Given the description of an element on the screen output the (x, y) to click on. 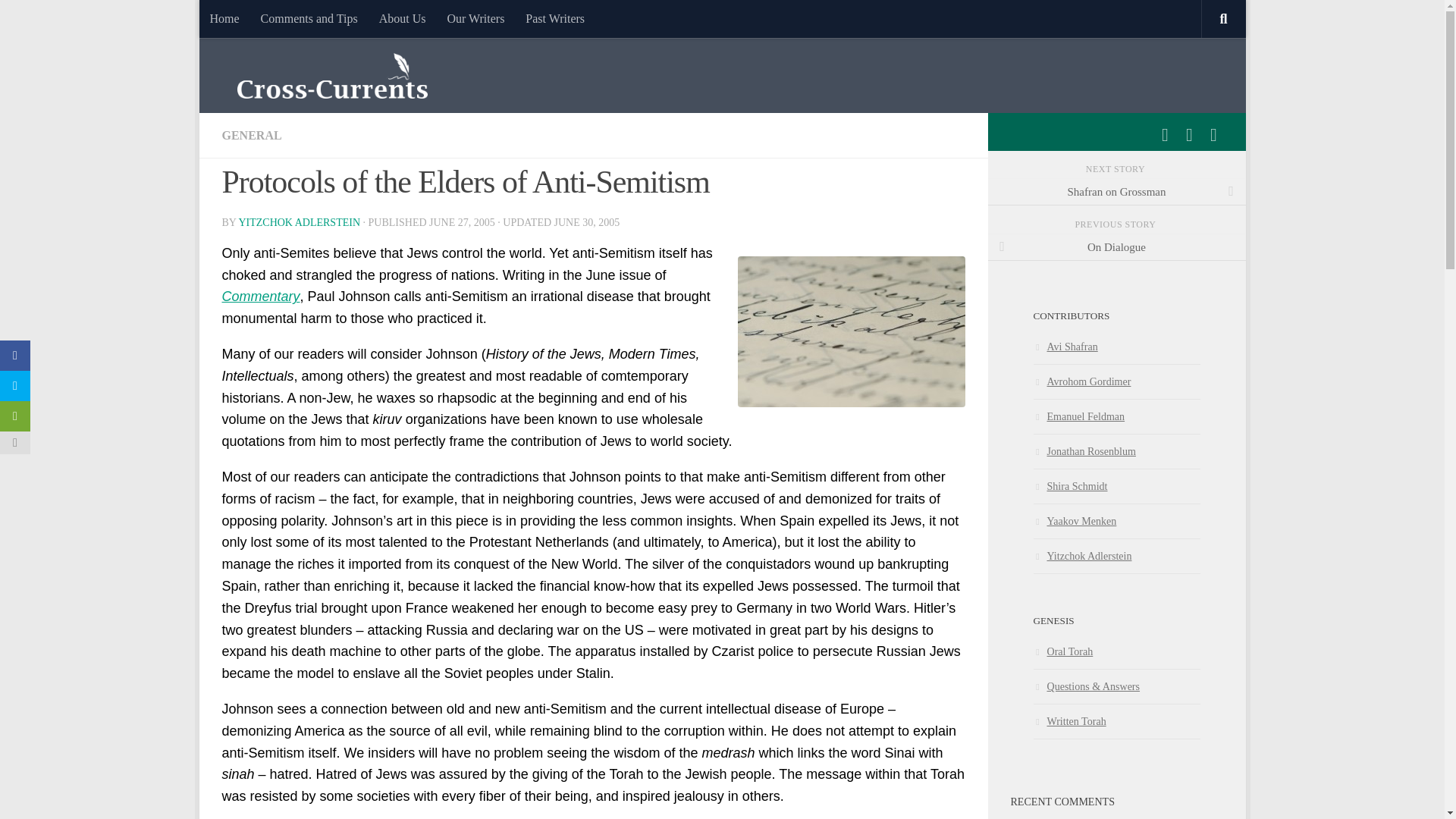
Jonathan Rosenblum (1083, 451)
On Dialogue (1115, 247)
Skip to content (258, 20)
Emanuel Feldman (1078, 416)
Commentary (260, 296)
Follow us on Facebook (1164, 135)
Shira Schmidt (1069, 485)
Follow us on Twitter (1188, 135)
YITZCHOK ADLERSTEIN (298, 222)
Posts by Yitzchok Adlerstein (298, 222)
